Given the description of an element on the screen output the (x, y) to click on. 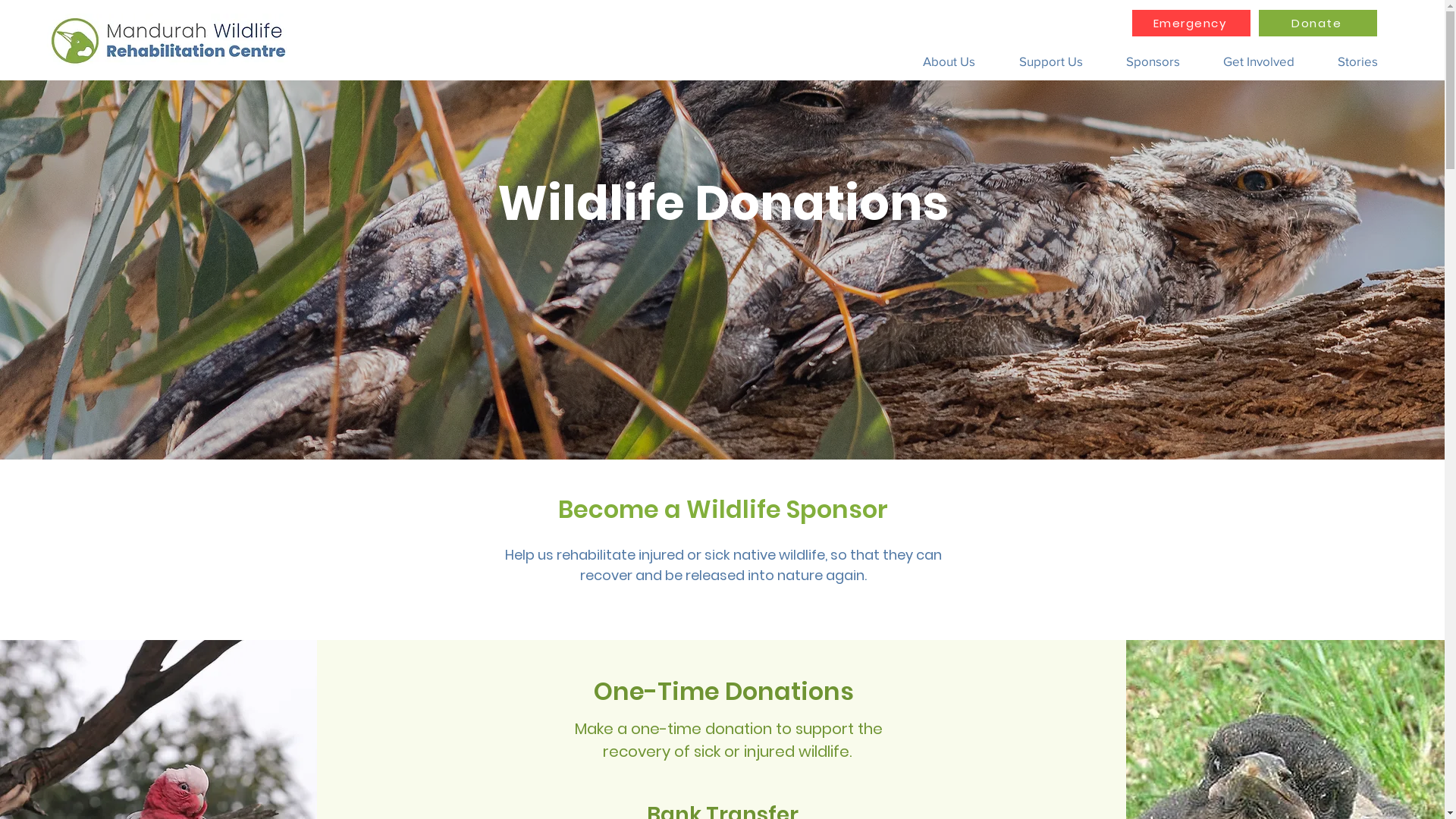
Sponsors Element type: text (1152, 61)
Donate Element type: text (1317, 22)
About Us Element type: text (948, 61)
Stories Element type: text (1357, 61)
Get Involved Element type: text (1258, 61)
Emergency Element type: text (1191, 22)
